Given the description of an element on the screen output the (x, y) to click on. 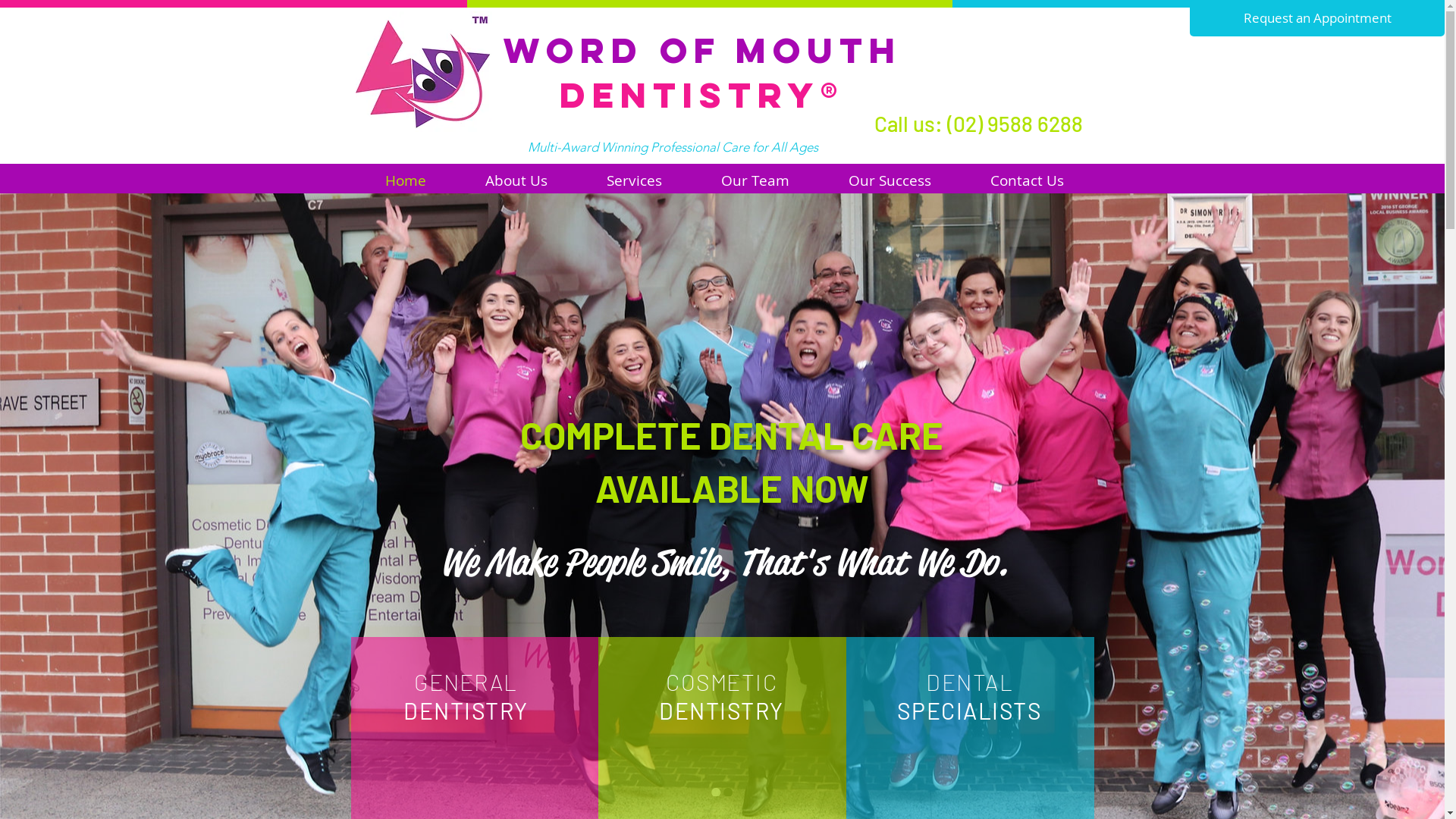
Home Element type: text (405, 180)
DENTISTRY Element type: text (465, 710)
Request an Appointment Element type: text (1316, 18)
DENTISTRY Element type: text (721, 710)
Word of Mouth Element type: text (702, 50)
Call us: (02) 9588 6288 Element type: text (978, 124)
SPECIALISTS Element type: text (969, 710)
About Us Element type: text (515, 180)
Contact Us Element type: text (1026, 180)
Facebook Like Element type: hover (1014, 35)
Our Success Element type: text (889, 180)
GENERAL Element type: text (465, 681)
COSMETIC Element type: text (721, 681)
Our Team Element type: text (755, 180)
Services Element type: text (633, 180)
